Given the description of an element on the screen output the (x, y) to click on. 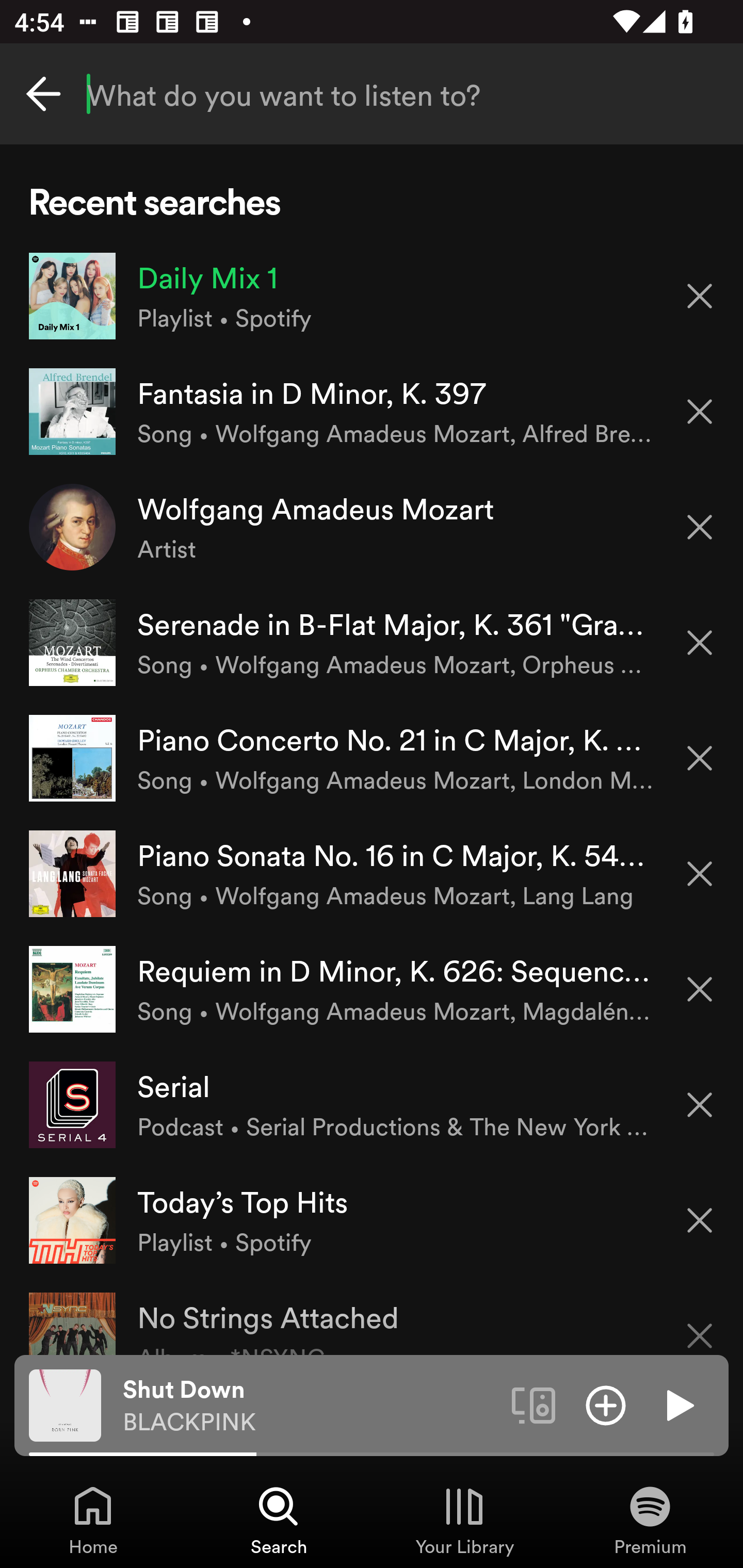
What do you want to listen to? (371, 93)
Cancel (43, 93)
Daily Mix 1 Playlist • Spotify Remove (371, 296)
Remove (699, 295)
Remove (699, 411)
Wolfgang Amadeus Mozart Artist Remove (371, 526)
Remove (699, 527)
Remove (699, 642)
Remove (699, 758)
Remove (699, 874)
Remove (699, 989)
Remove (699, 1104)
Today’s Top Hits Playlist • Spotify Remove (371, 1219)
Remove (699, 1220)
No Strings Attached Album • *NSYNC Remove (371, 1315)
Remove (699, 1323)
Shut Down BLACKPINK (309, 1405)
The cover art of the currently playing track (64, 1404)
Connect to a device. Opens the devices menu (533, 1404)
Add item (605, 1404)
Play (677, 1404)
Home, Tab 1 of 4 Home Home (92, 1519)
Search, Tab 2 of 4 Search Search (278, 1519)
Your Library, Tab 3 of 4 Your Library Your Library (464, 1519)
Premium, Tab 4 of 4 Premium Premium (650, 1519)
